Given the description of an element on the screen output the (x, y) to click on. 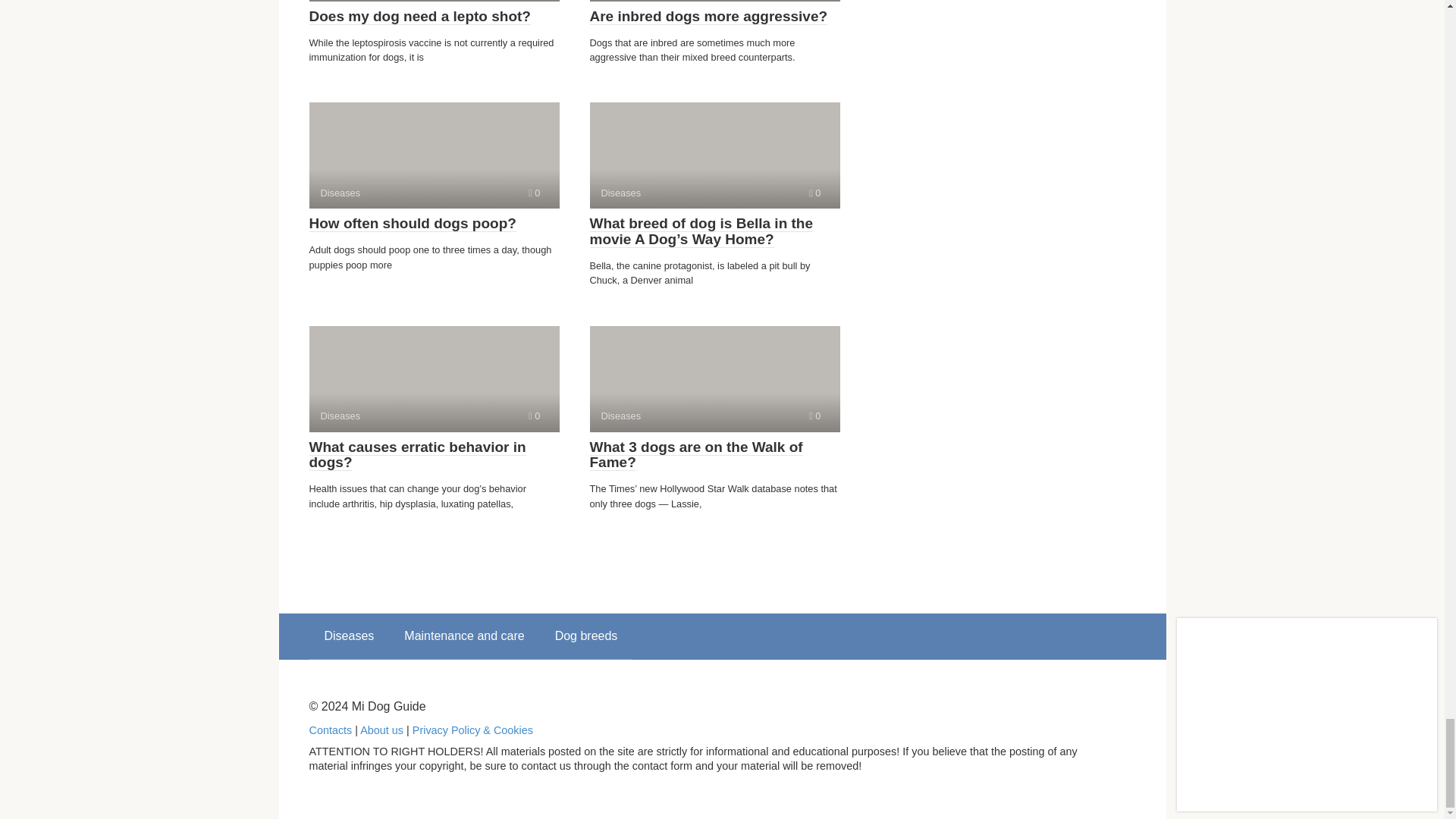
Does my dog need a lepto shot? (433, 155)
Are inbred dogs more aggressive? (815, 193)
Comments (419, 16)
How often should dogs poop? (708, 16)
Comments (534, 415)
Comments (412, 223)
